Given the description of an element on the screen output the (x, y) to click on. 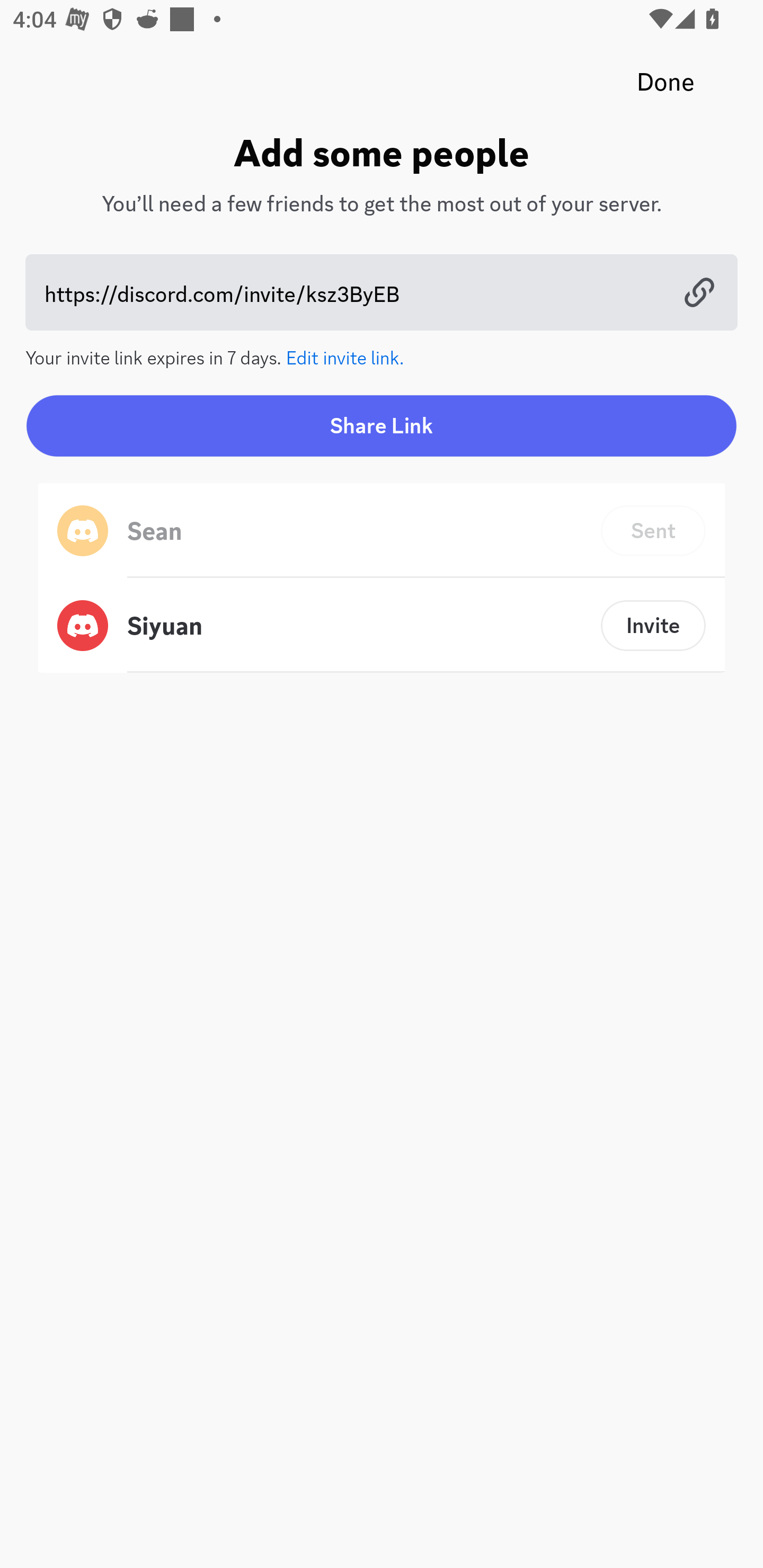
Done (665, 82)
Search (373, 165)
Copy Link https://discord.com/invite/ksz3ByEB (381, 292)
Edit invite link. (345, 355)
Share Link (381, 425)
holiday-plans (text channel) holiday-plans (413, 518)
Siyuan Siyuan Invite Invite (381, 625)
Invite (653, 625)
